Given the description of an element on the screen output the (x, y) to click on. 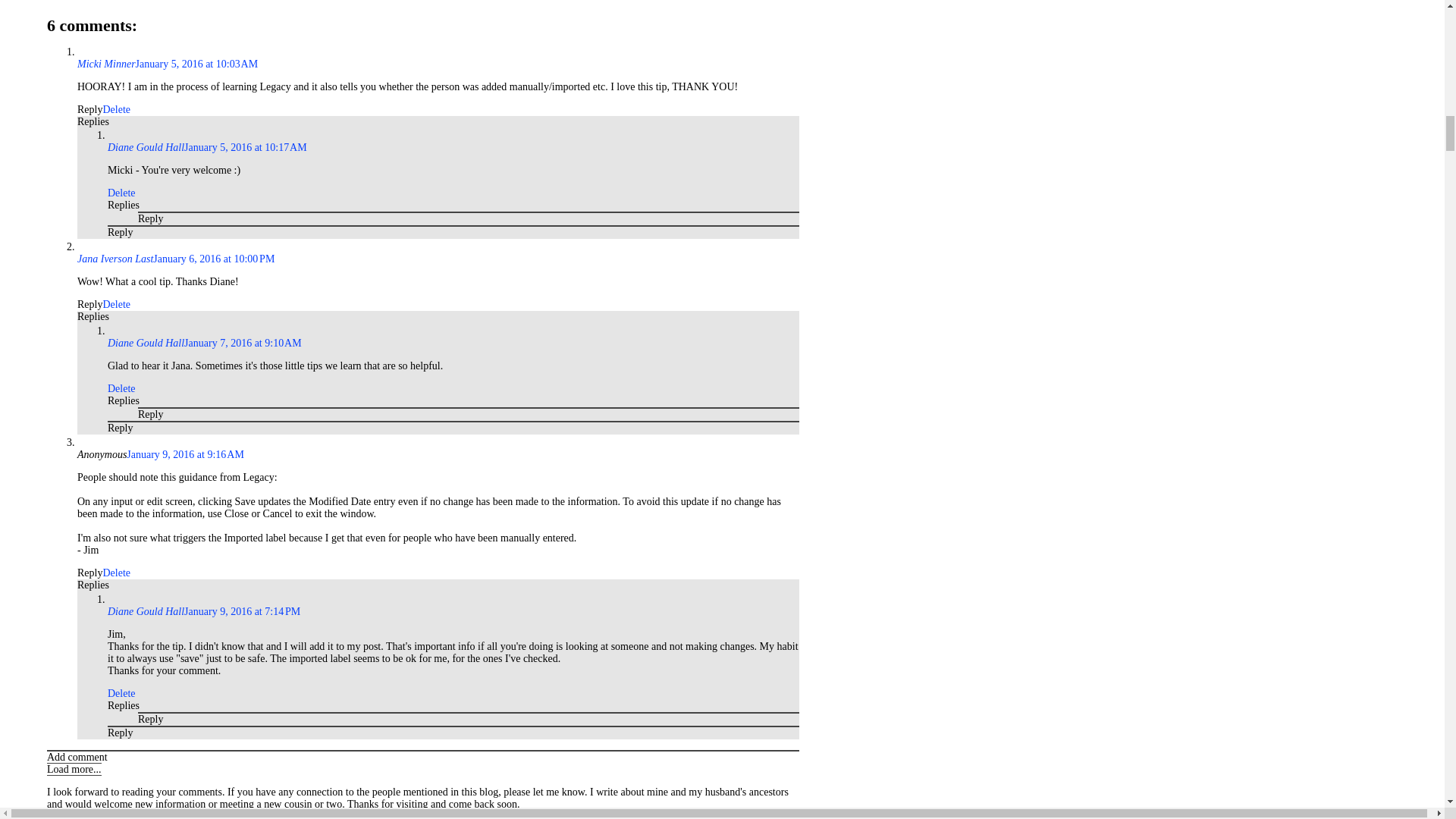
Delete (116, 109)
Reply (89, 109)
Micki Minner (106, 63)
